Given the description of an element on the screen output the (x, y) to click on. 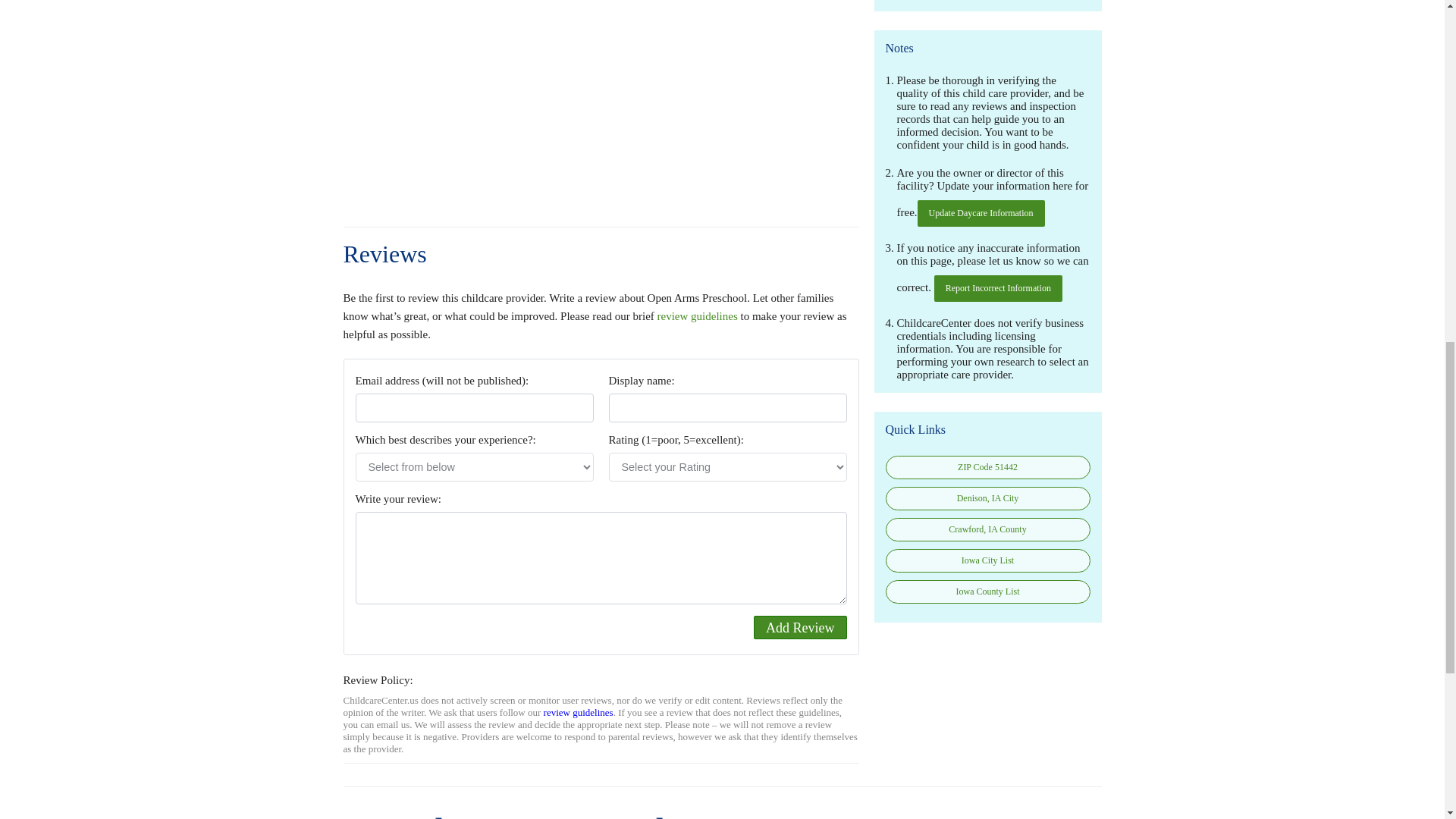
ZIP Code 51442 (987, 467)
Update Daycare Information (981, 212)
Report Incorrect Information (998, 288)
review guidelines (698, 316)
Iowa City List (987, 560)
review guidelines (577, 712)
Iowa County List (987, 591)
Add Review (799, 627)
Crawford, IA County (987, 529)
Add Review (799, 627)
